Given the description of an element on the screen output the (x, y) to click on. 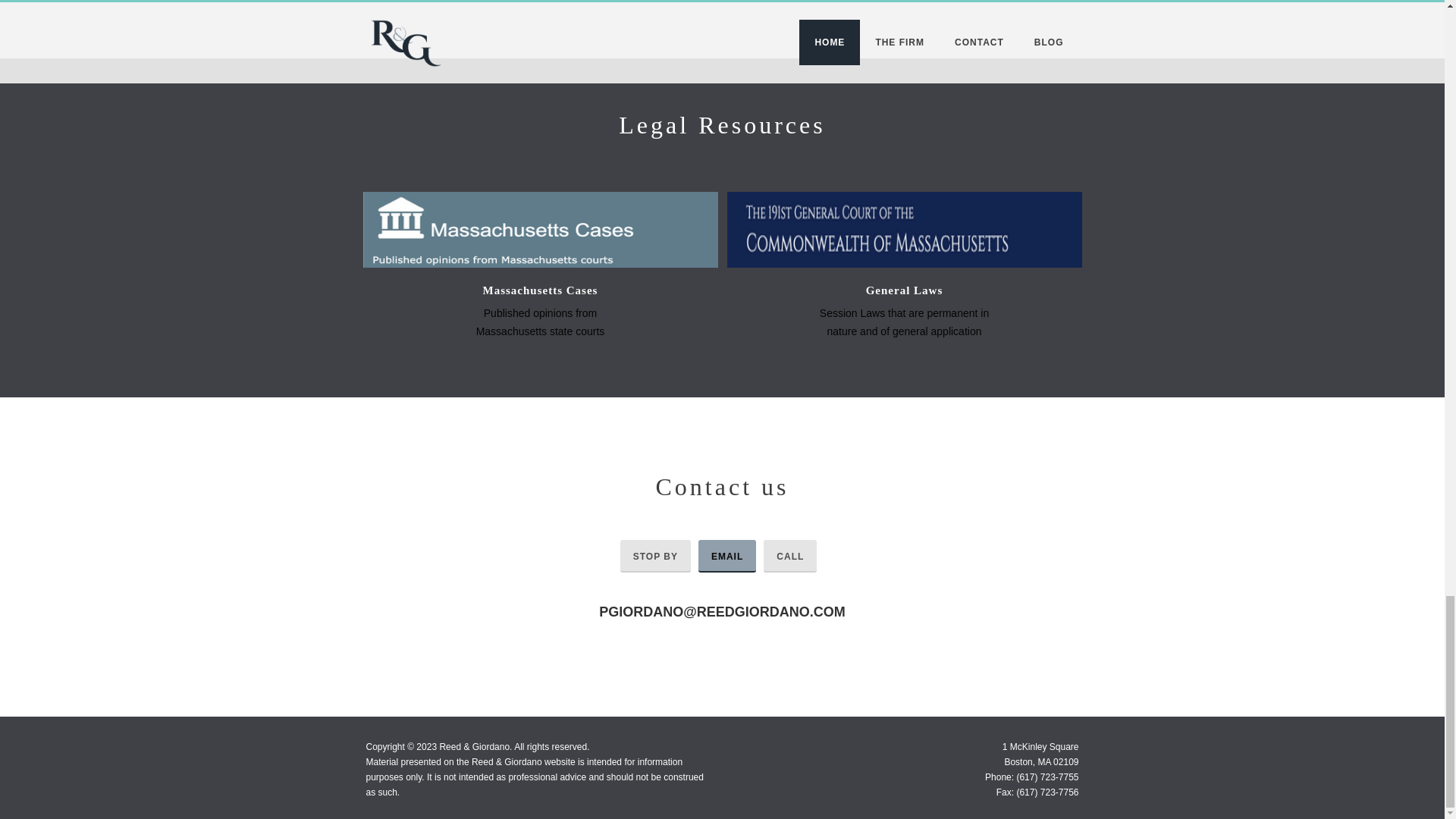
EMAIL (726, 555)
CALL (789, 555)
STOP BY (655, 555)
